Given the description of an element on the screen output the (x, y) to click on. 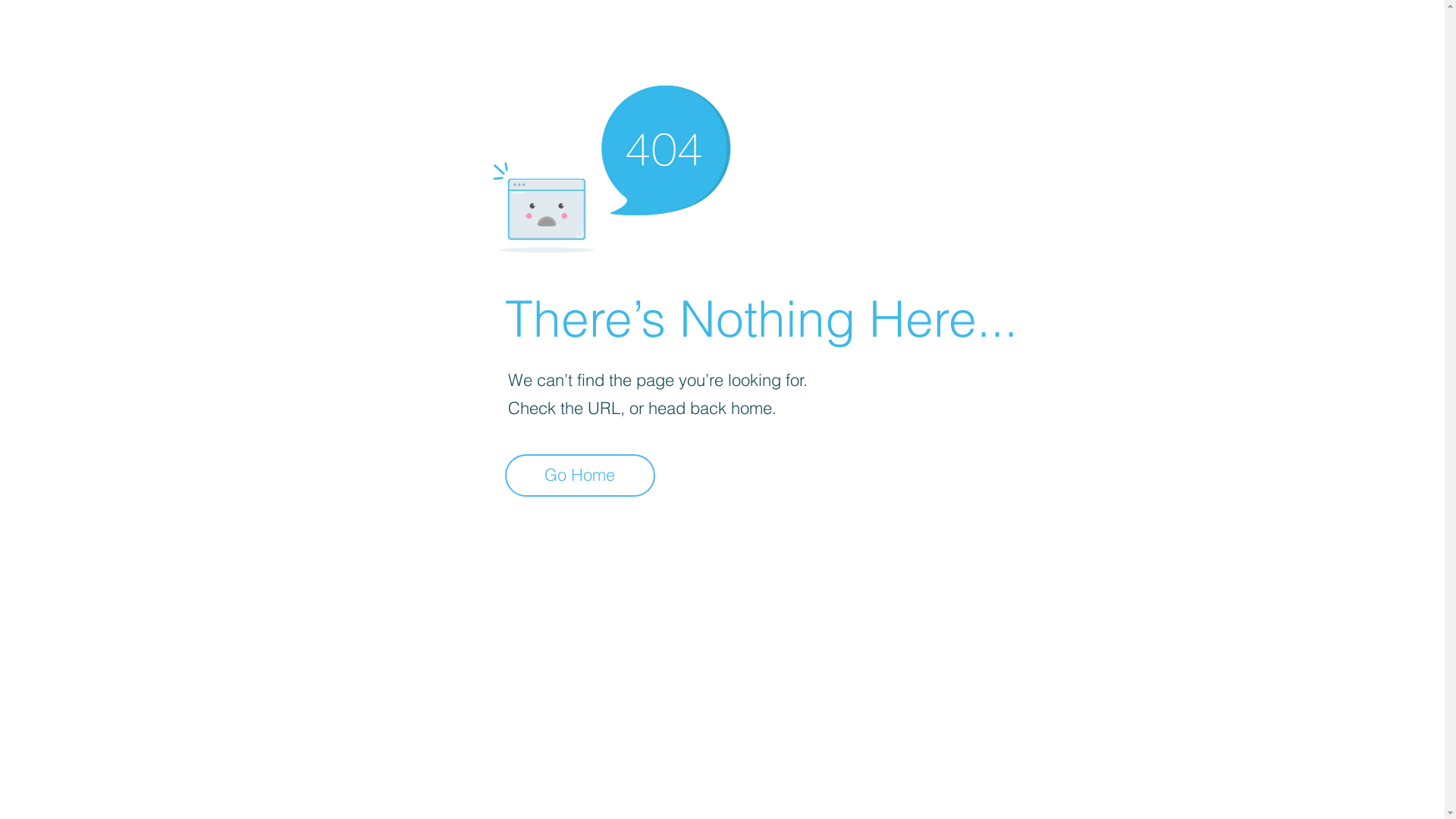
404-icon_2.png Element type: hover (610, 164)
Go Home Element type: text (580, 475)
